Given the description of an element on the screen output the (x, y) to click on. 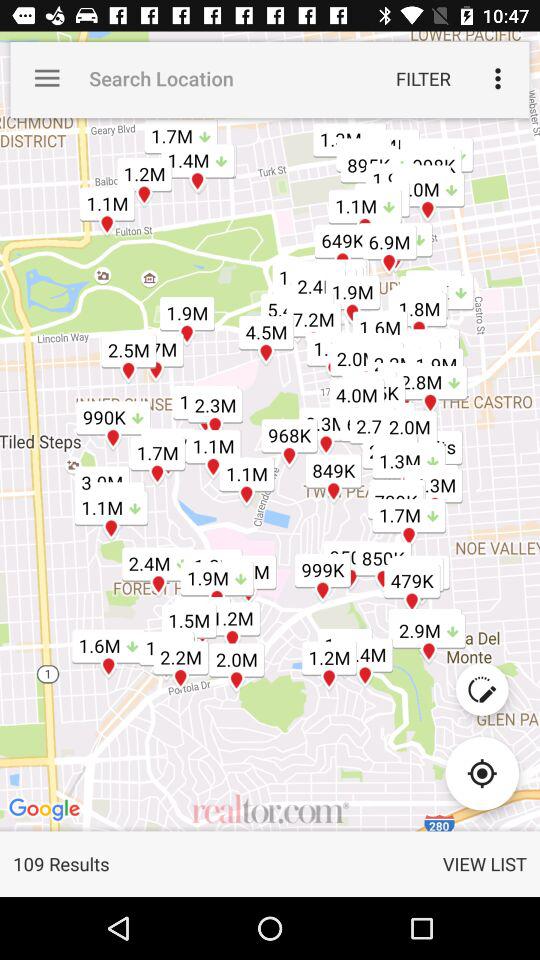
choose the item next to search location icon (47, 78)
